Given the description of an element on the screen output the (x, y) to click on. 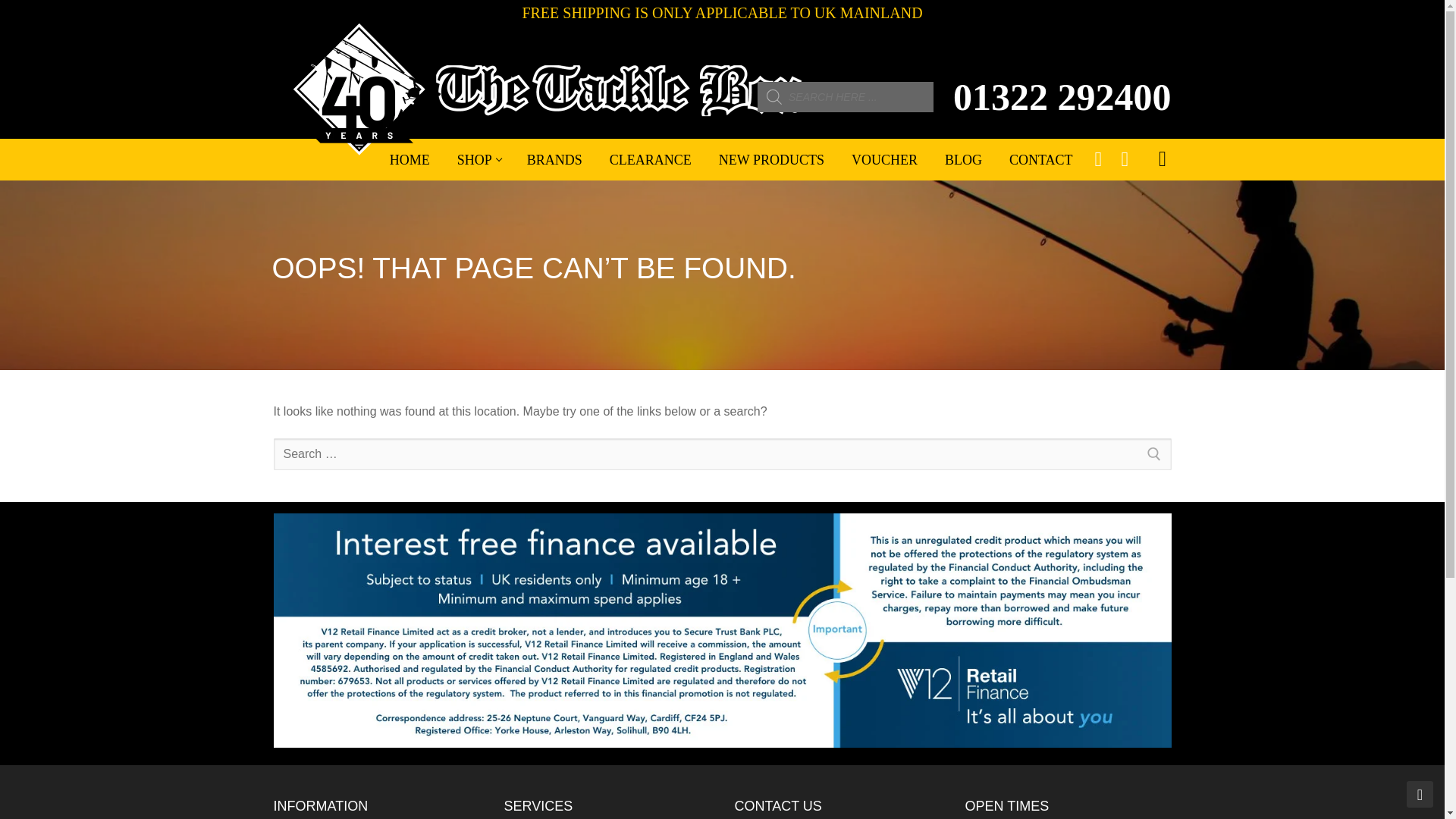
Search for: (721, 454)
01322 292400 (1062, 96)
HOME (477, 160)
